Given the description of an element on the screen output the (x, y) to click on. 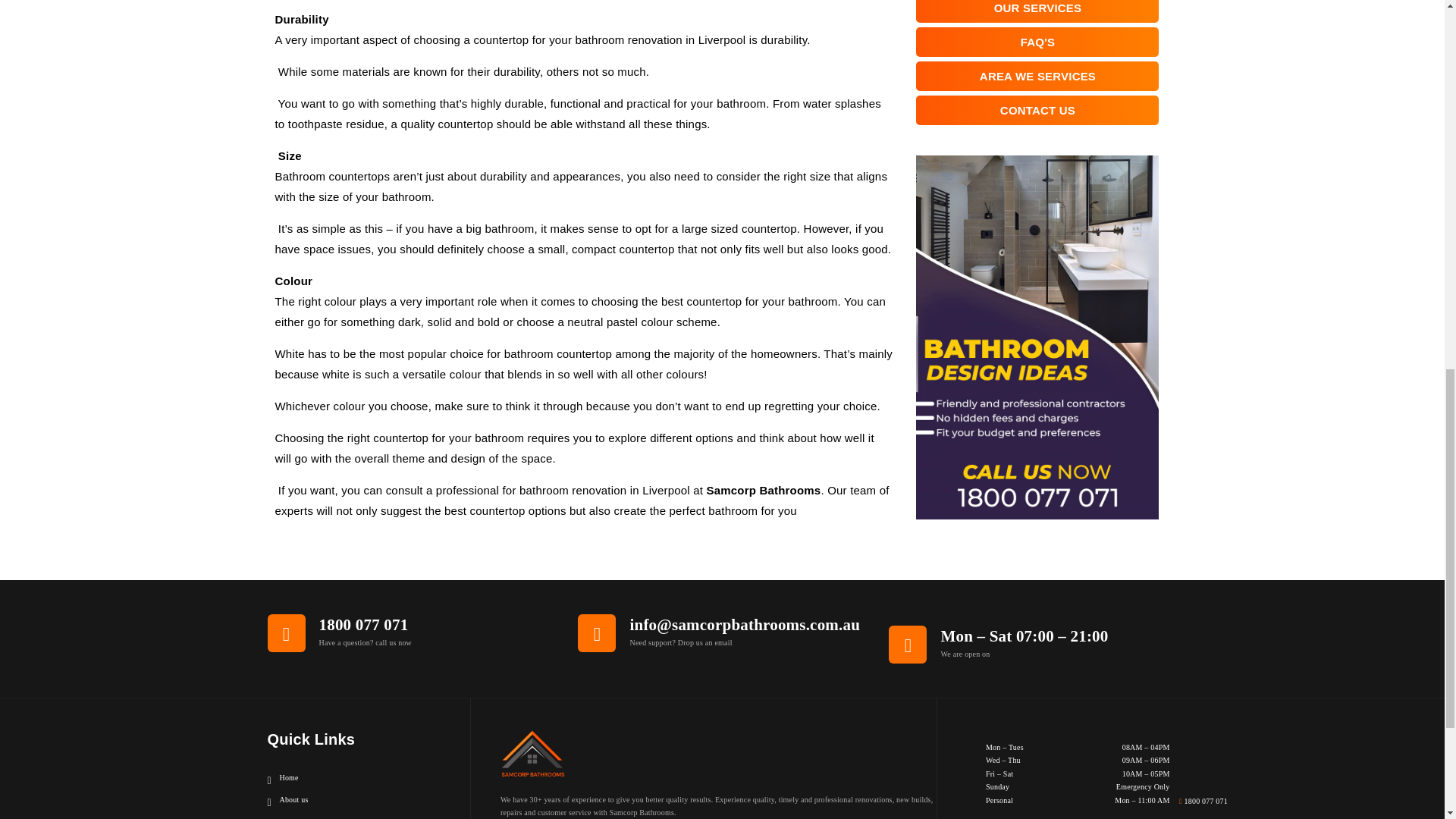
AREA WE SERVICES (1036, 75)
bathroom renovation (628, 39)
FAQ'S (1036, 41)
Our Services (293, 817)
Home (282, 777)
About us (286, 799)
CONTACT US (1036, 110)
OUR SERVICES (1036, 11)
